Given the description of an element on the screen output the (x, y) to click on. 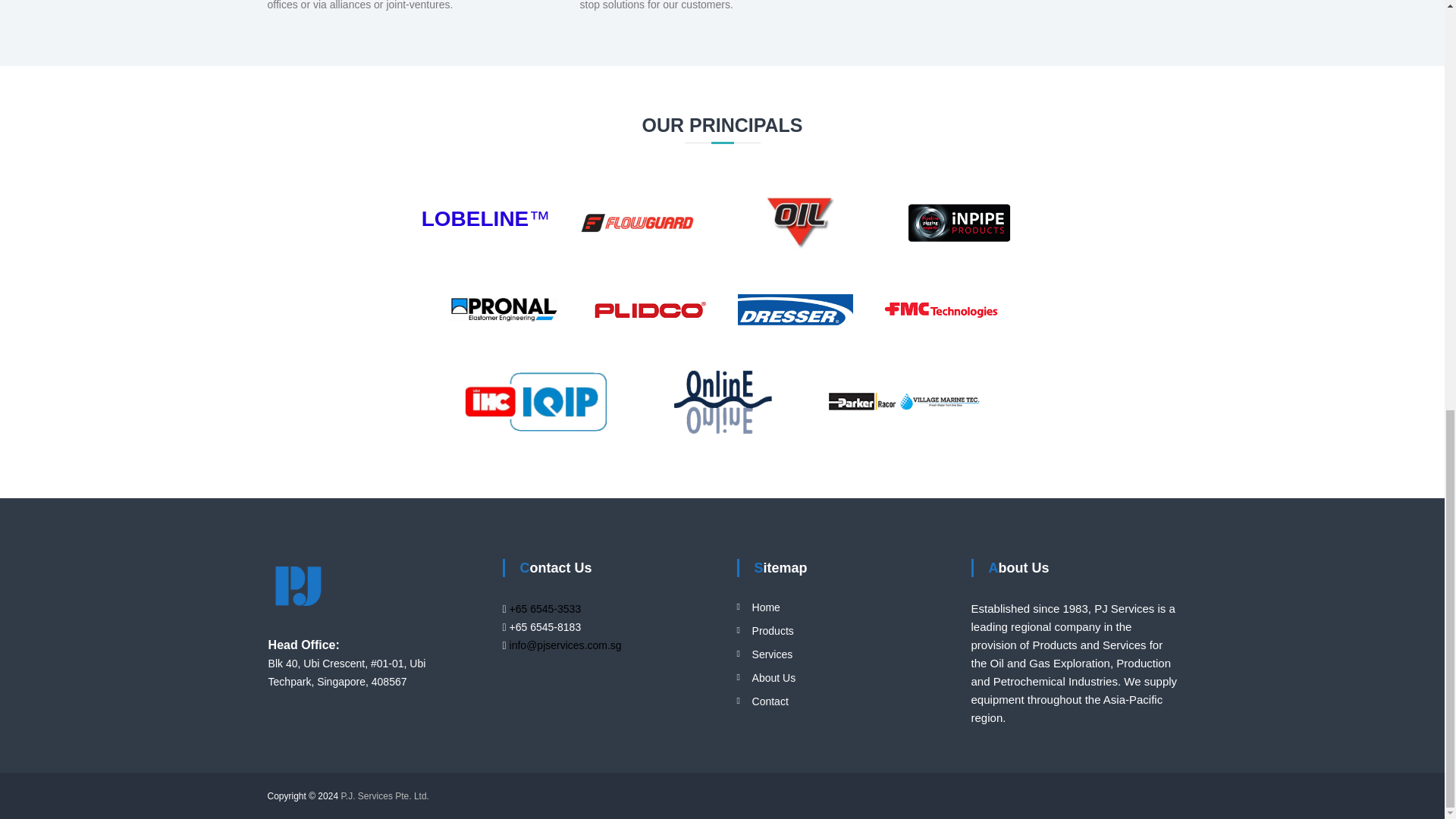
Products (772, 630)
About Us (774, 677)
P.J. Services Pte. Ltd. (384, 796)
Home (766, 607)
Contact (770, 701)
Services (772, 654)
